Given the description of an element on the screen output the (x, y) to click on. 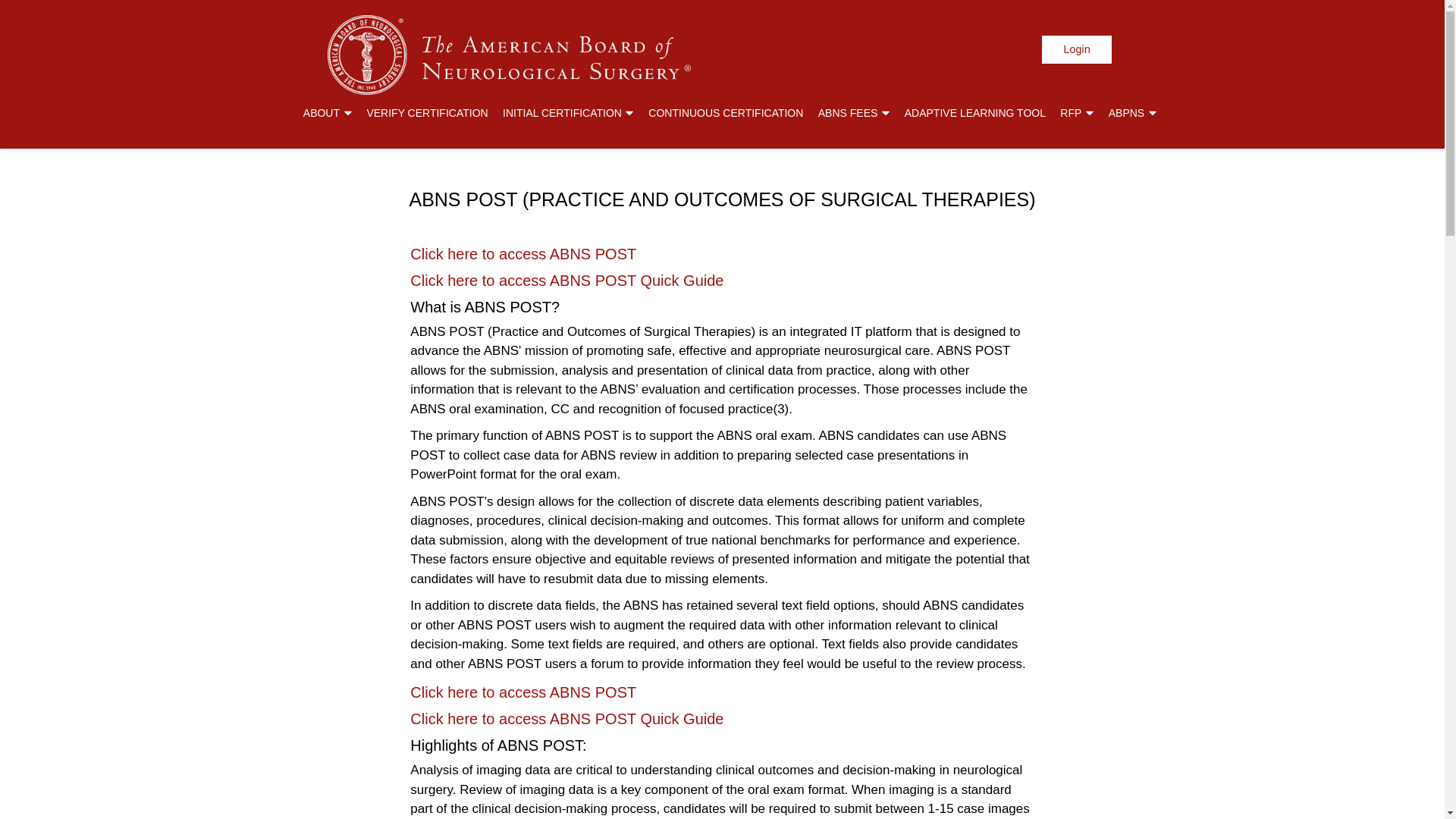
Open Submenu (1088, 112)
Open Submenu (629, 112)
Open Submenu (884, 112)
Login (1077, 49)
VERIFY CERTIFICATION (426, 112)
Open Submenu (1152, 112)
Home Page (508, 60)
Open Submenu (347, 112)
ADAPTIVE LEARNING TOOL (974, 112)
CONTINUOUS CERTIFICATION (725, 112)
ABPNS (1132, 112)
